Given the description of an element on the screen output the (x, y) to click on. 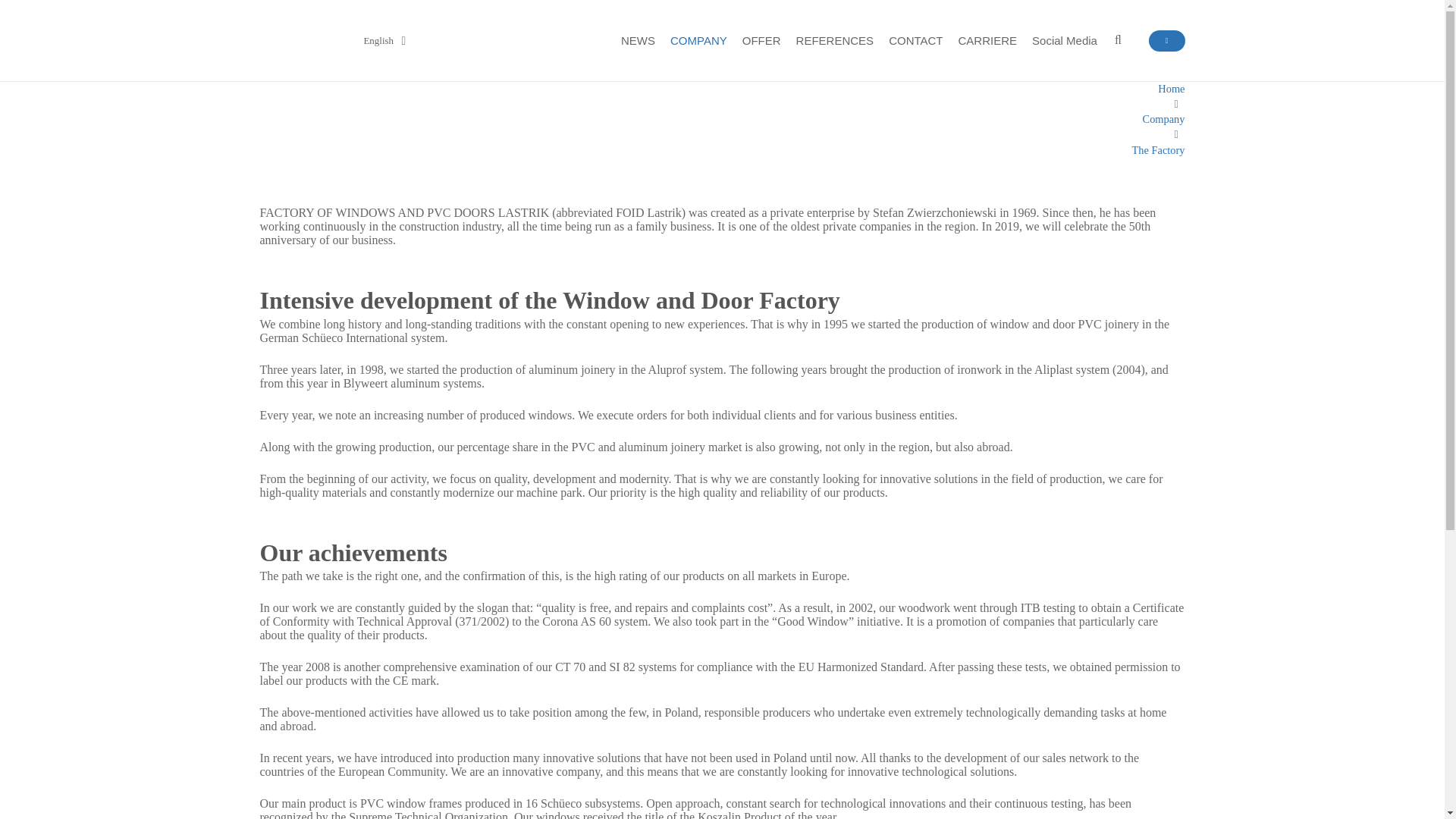
OFFER (762, 39)
NEWS (637, 39)
English (374, 39)
COMPANY (698, 39)
